Given the description of an element on the screen output the (x, y) to click on. 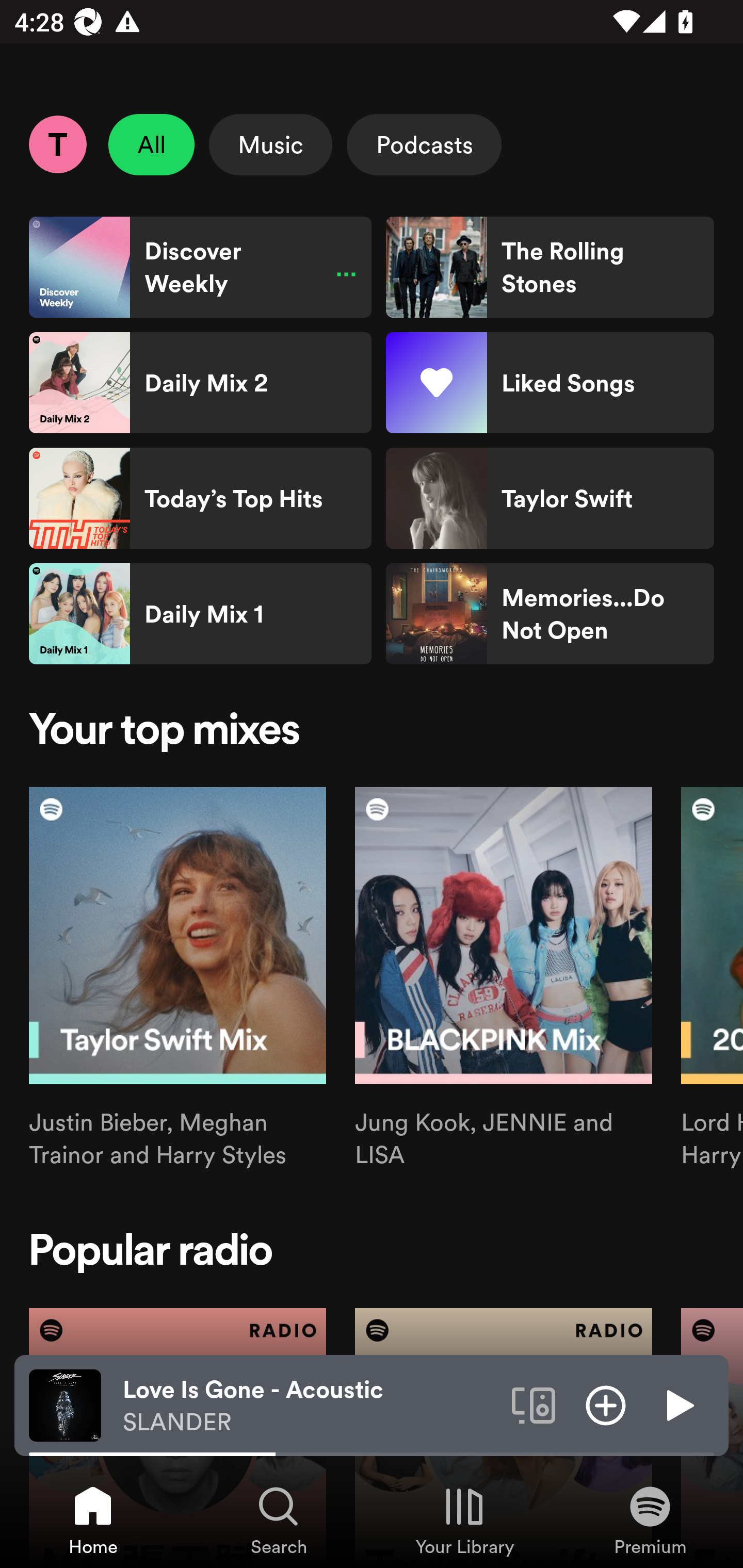
Profile (57, 144)
All Unselect All (151, 144)
Music Select Music (270, 144)
Podcasts Select Podcasts (423, 144)
Discover Weekly Shortcut Discover Weekly Paused (199, 267)
The Rolling Stones Shortcut The Rolling Stones (549, 267)
Daily Mix 2 Shortcut Daily Mix 2 (199, 382)
Liked Songs Shortcut Liked Songs (549, 382)
Today’s Top Hits Shortcut Today’s Top Hits (199, 498)
Taylor Swift Shortcut Taylor Swift (549, 498)
Daily Mix 1 Shortcut Daily Mix 1 (199, 613)
Love Is Gone - Acoustic SLANDER (309, 1405)
The cover art of the currently playing track (64, 1404)
Connect to a device. Opens the devices menu (533, 1404)
Add item (605, 1404)
Play (677, 1404)
Home, Tab 1 of 4 Home Home (92, 1519)
Search, Tab 2 of 4 Search Search (278, 1519)
Your Library, Tab 3 of 4 Your Library Your Library (464, 1519)
Premium, Tab 4 of 4 Premium Premium (650, 1519)
